Given the description of an element on the screen output the (x, y) to click on. 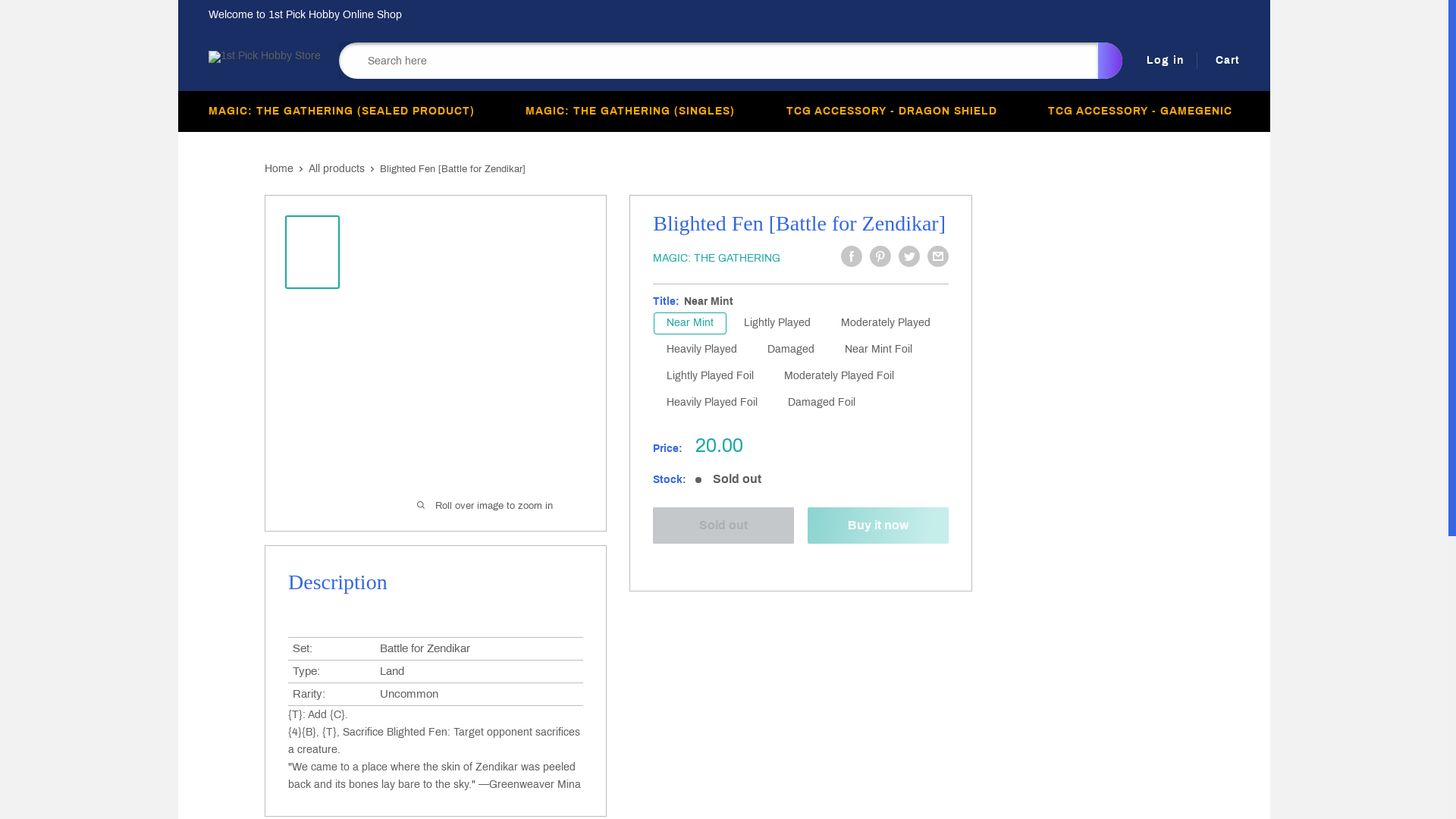
Log in Element type: text (1162, 60)
MAGIC: THE GATHERING (SINGLES)   Element type: text (633, 111)
MAGIC: THE GATHERING (SEALED PRODUCT)   Element type: text (345, 111)
Home Element type: text (278, 168)
Buy it now Element type: text (877, 525)
TCG ACCESSORY - GAMEGENIC   Element type: text (1143, 111)
TCG ACCESSORY - DRAGON SHIELD   Element type: text (895, 111)
Sold out Element type: text (722, 525)
Cart Element type: text (1224, 60)
All products Element type: text (336, 168)
MAGIC: THE GATHERING Element type: text (716, 257)
Search Element type: hover (1110, 60)
